Given the description of an element on the screen output the (x, y) to click on. 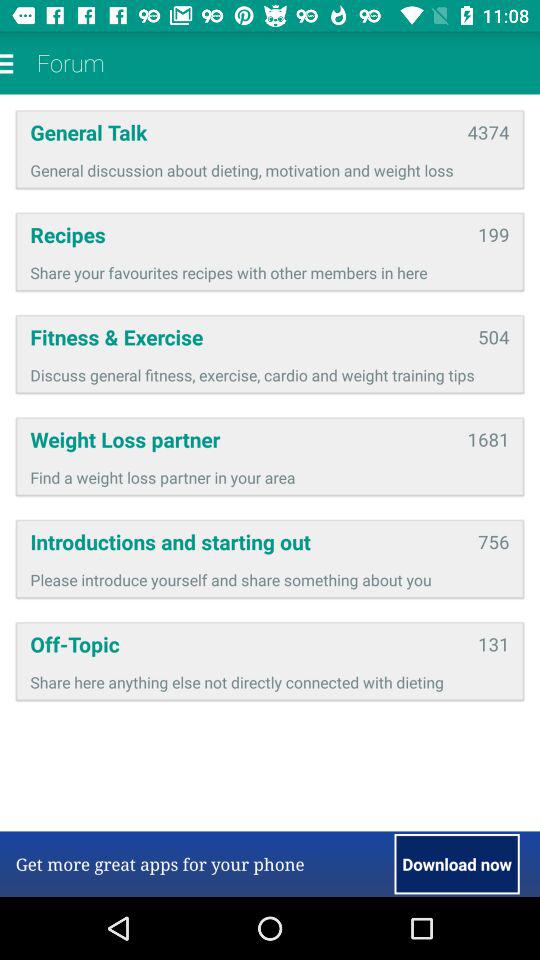
press 199 app (493, 234)
